Given the description of an element on the screen output the (x, y) to click on. 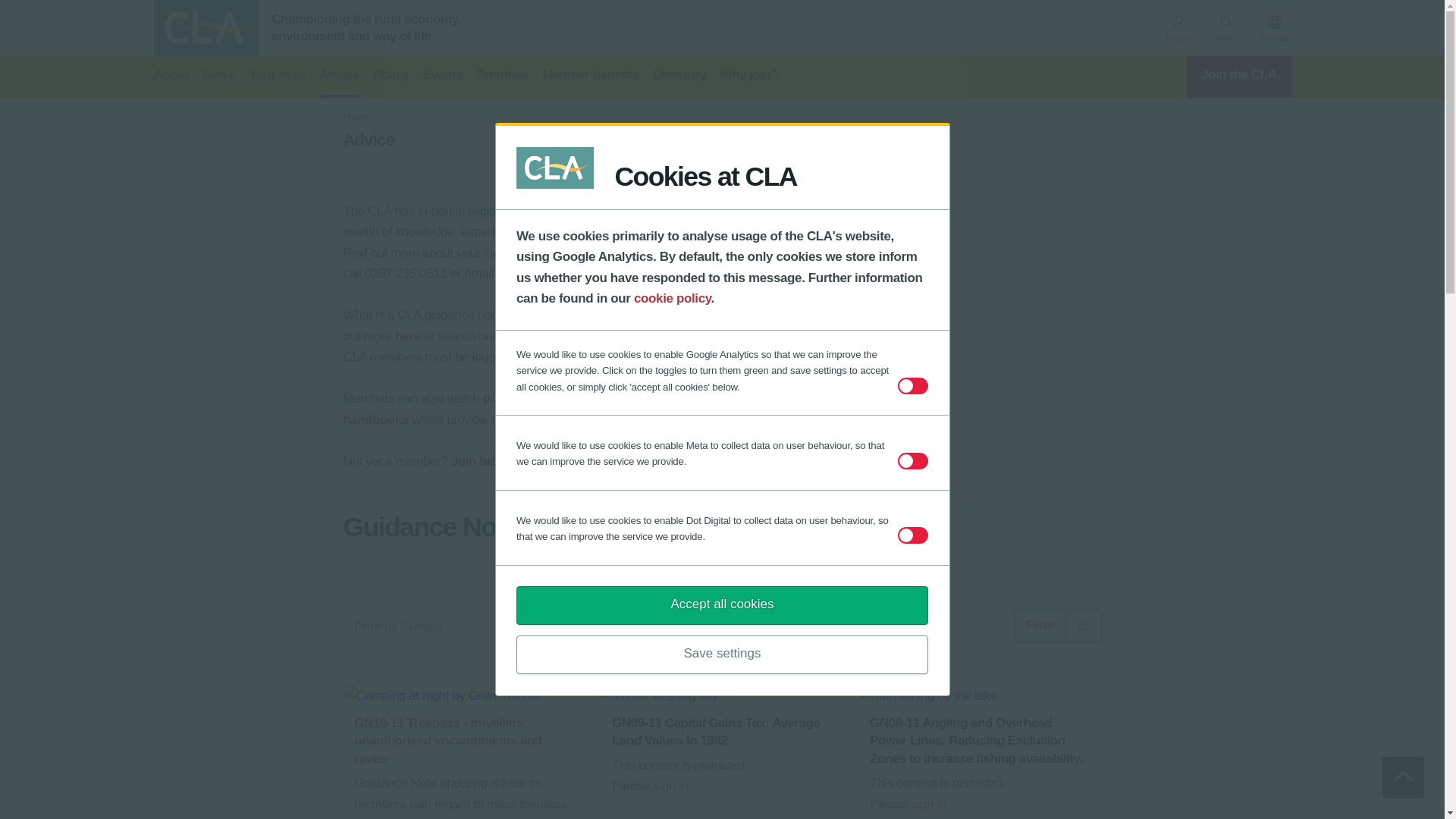
sign in (928, 803)
Account (1178, 29)
Directory (679, 76)
handbooks (374, 419)
Join the CLA (1238, 76)
Member benefits (590, 76)
Priorities (502, 76)
here (556, 252)
Advice (338, 76)
